Given the description of an element on the screen output the (x, y) to click on. 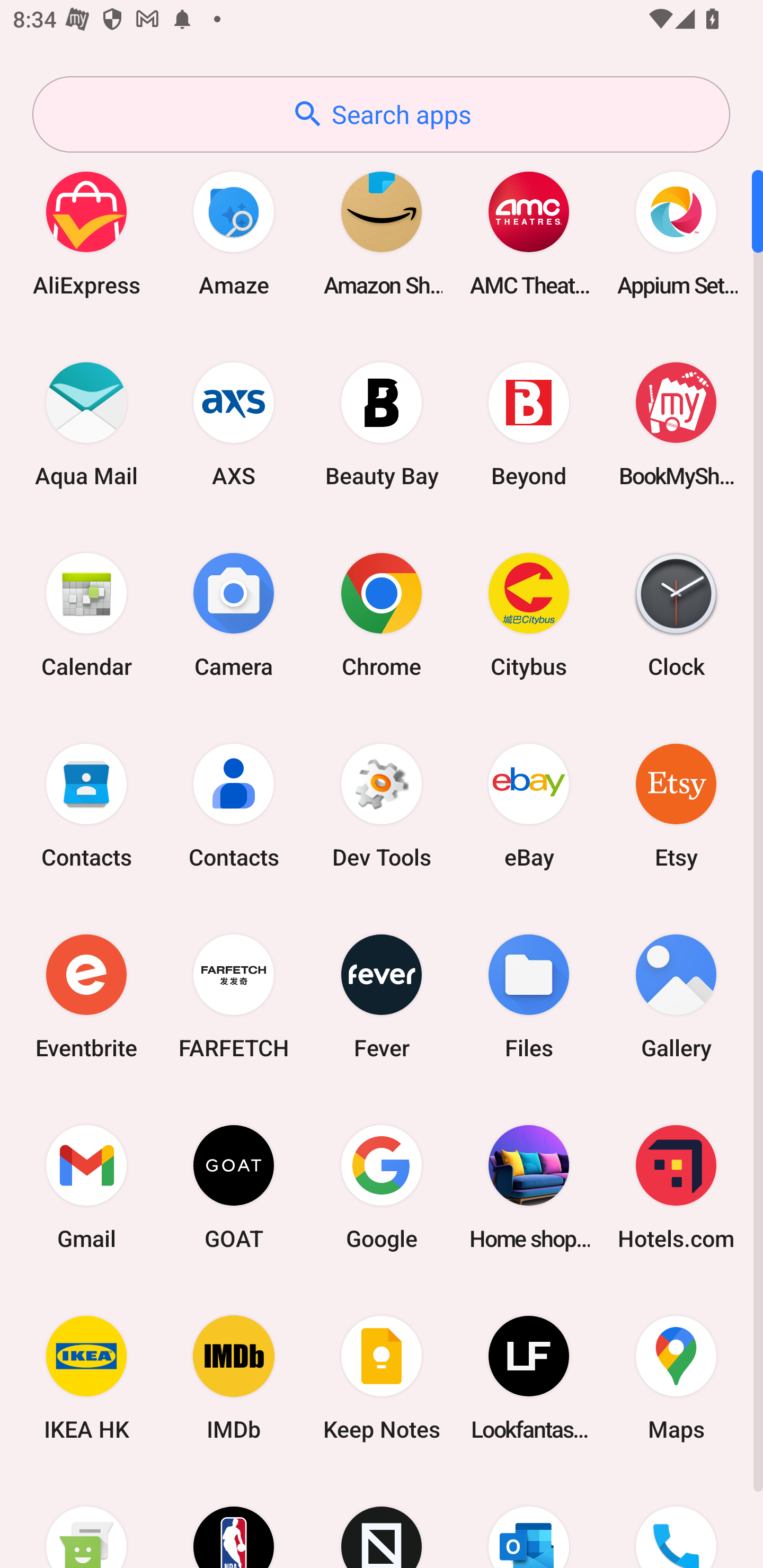
  Search apps (381, 114)
AliExpress (86, 233)
Amaze (233, 233)
Amazon Shopping (381, 233)
AMC Theatres (528, 233)
Appium Settings (676, 233)
Aqua Mail (86, 424)
AXS (233, 424)
Beauty Bay (381, 424)
Beyond (528, 424)
BookMyShow (676, 424)
Calendar (86, 614)
Camera (233, 614)
Chrome (381, 614)
Citybus (528, 614)
Clock (676, 614)
Contacts (86, 805)
Contacts (233, 805)
Dev Tools (381, 805)
eBay (528, 805)
Etsy (676, 805)
Eventbrite (86, 996)
FARFETCH (233, 996)
Fever (381, 996)
Files (528, 996)
Gallery (676, 996)
Gmail (86, 1186)
GOAT (233, 1186)
Google (381, 1186)
Home shopping (528, 1186)
Hotels.com (676, 1186)
IKEA HK (86, 1377)
IMDb (233, 1377)
Keep Notes (381, 1377)
Lookfantastic (528, 1377)
Maps (676, 1377)
